Given the description of an element on the screen output the (x, y) to click on. 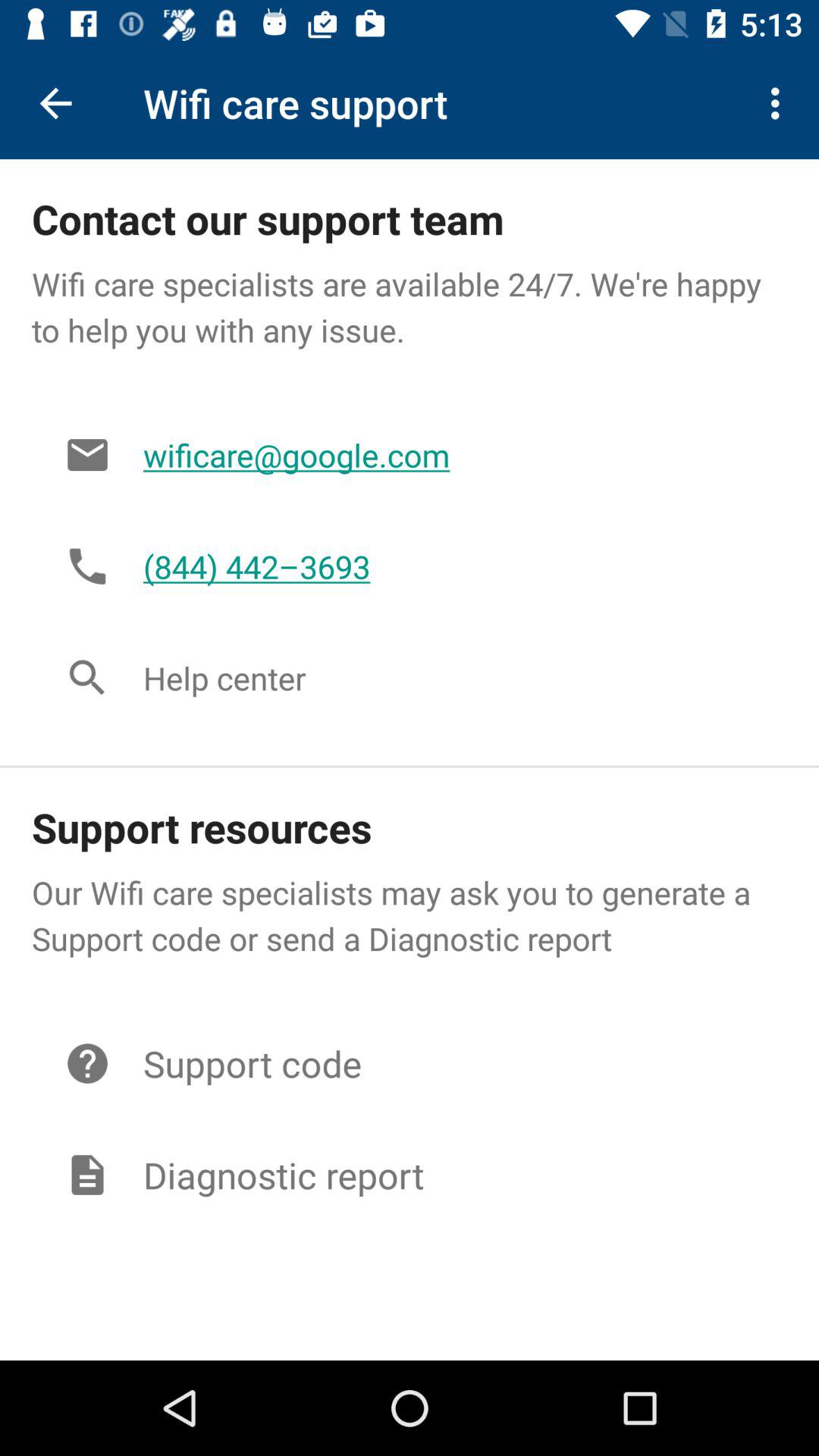
turn on icon to the right of the wifi care support (779, 103)
